Given the description of an element on the screen output the (x, y) to click on. 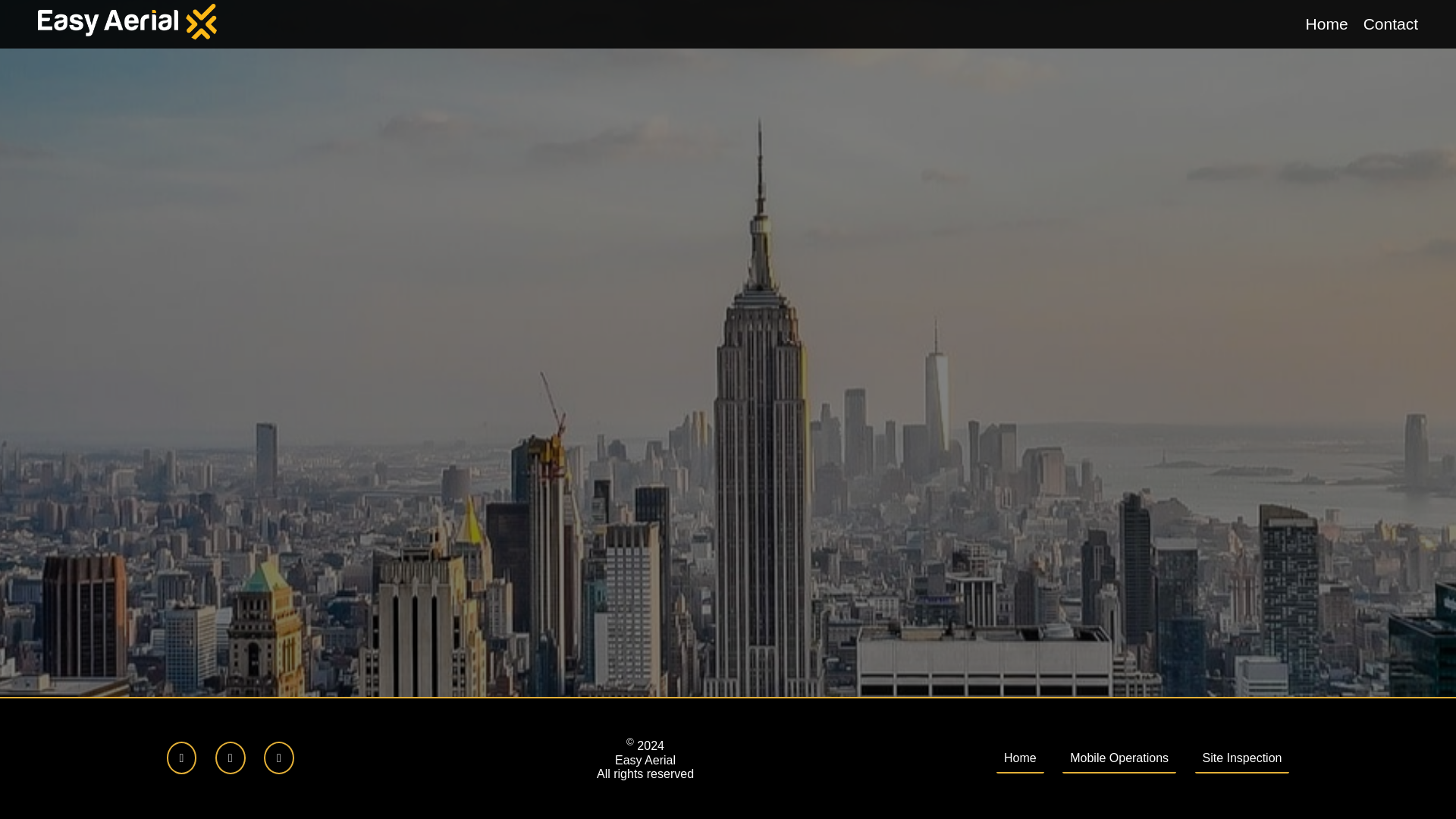
Mobile Operations (1119, 758)
Home (1019, 758)
Site Inspection (1242, 758)
